Given the description of an element on the screen output the (x, y) to click on. 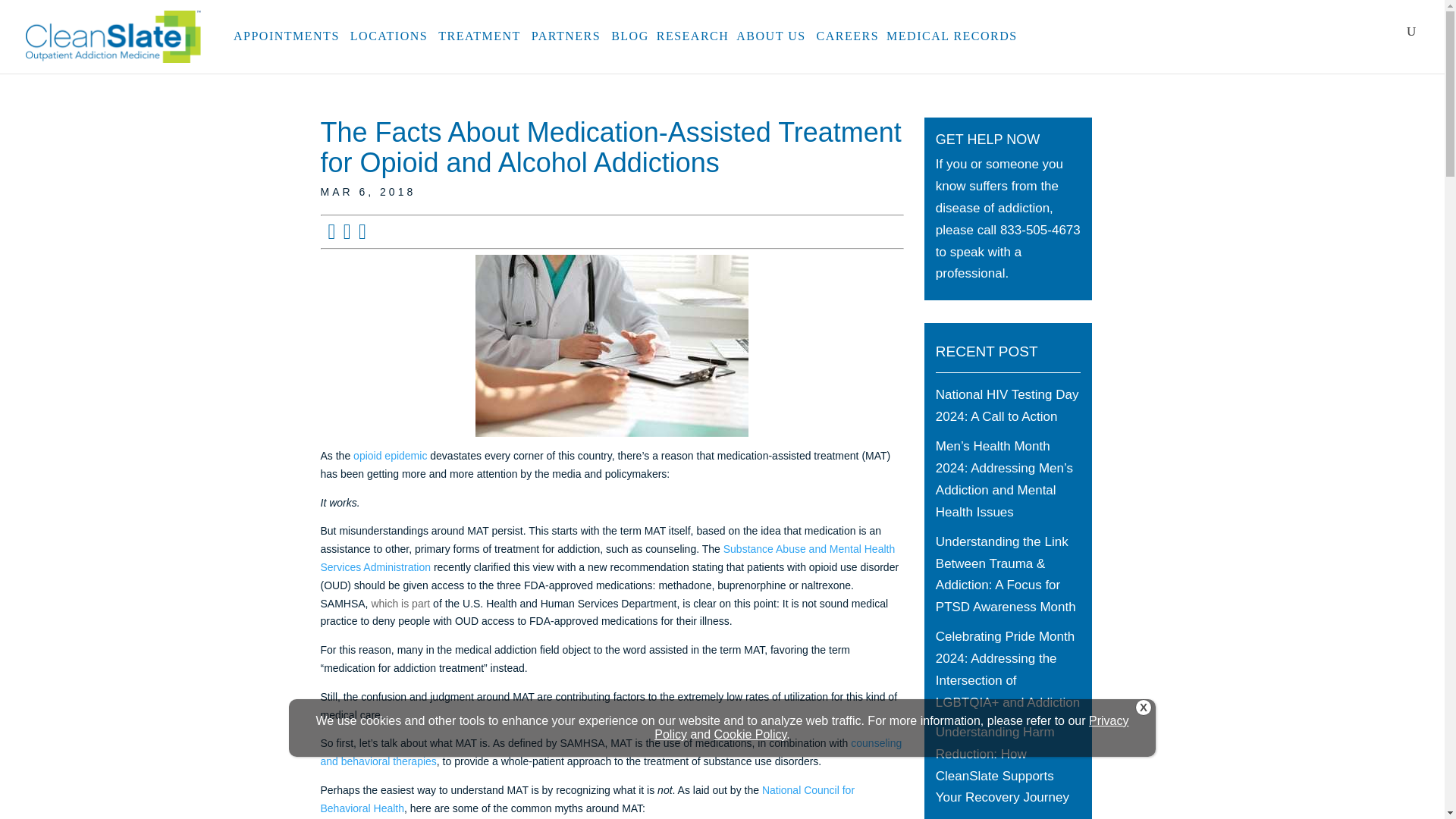
APPOINTMENTS (287, 44)
LOCATIONS (390, 44)
